Given the description of an element on the screen output the (x, y) to click on. 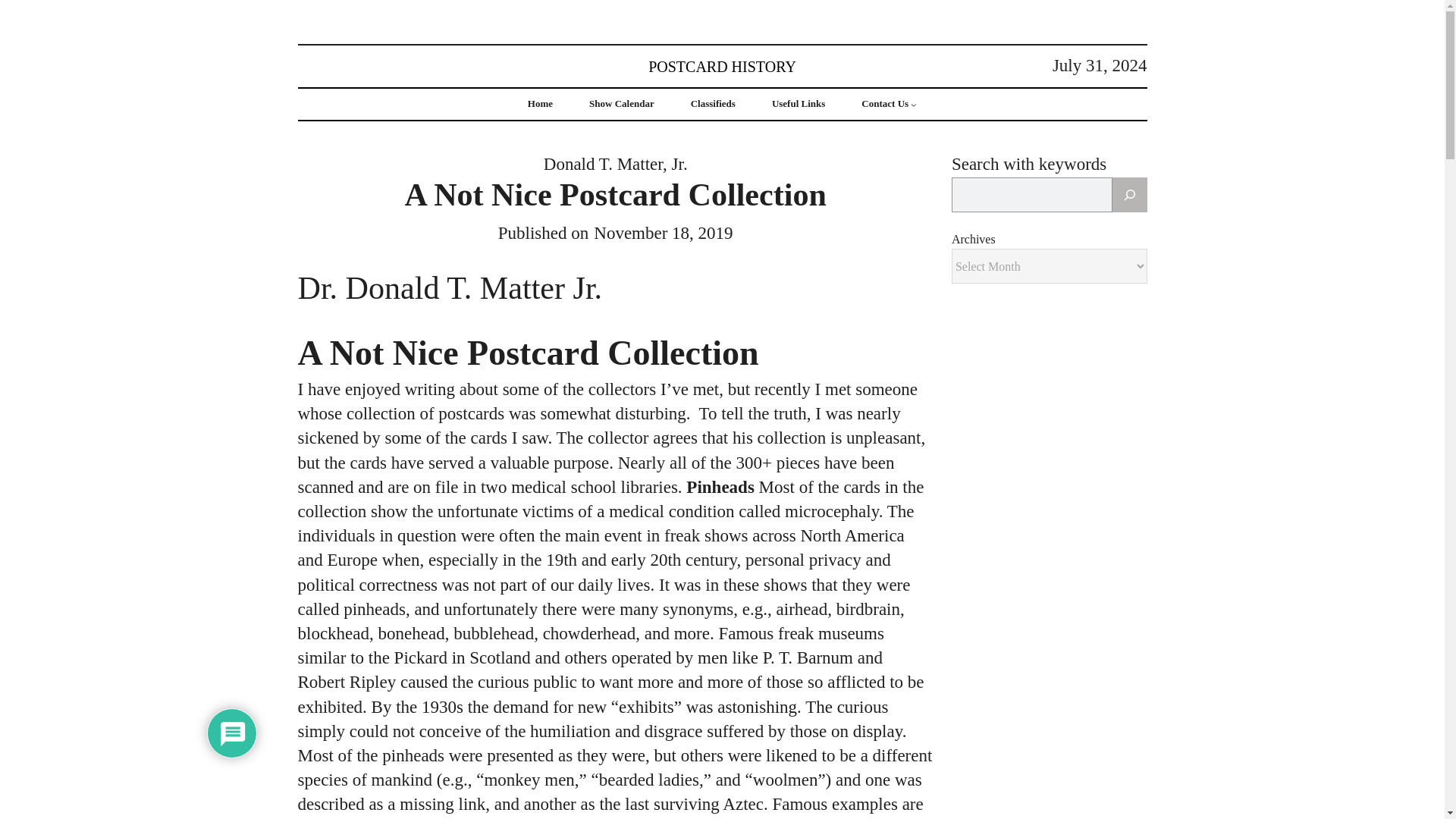
Classifieds (712, 103)
Home (540, 103)
POSTCARD HISTORY (721, 65)
Useful Links (798, 103)
Show Calendar (621, 103)
Contact Us (884, 103)
